Given the description of an element on the screen output the (x, y) to click on. 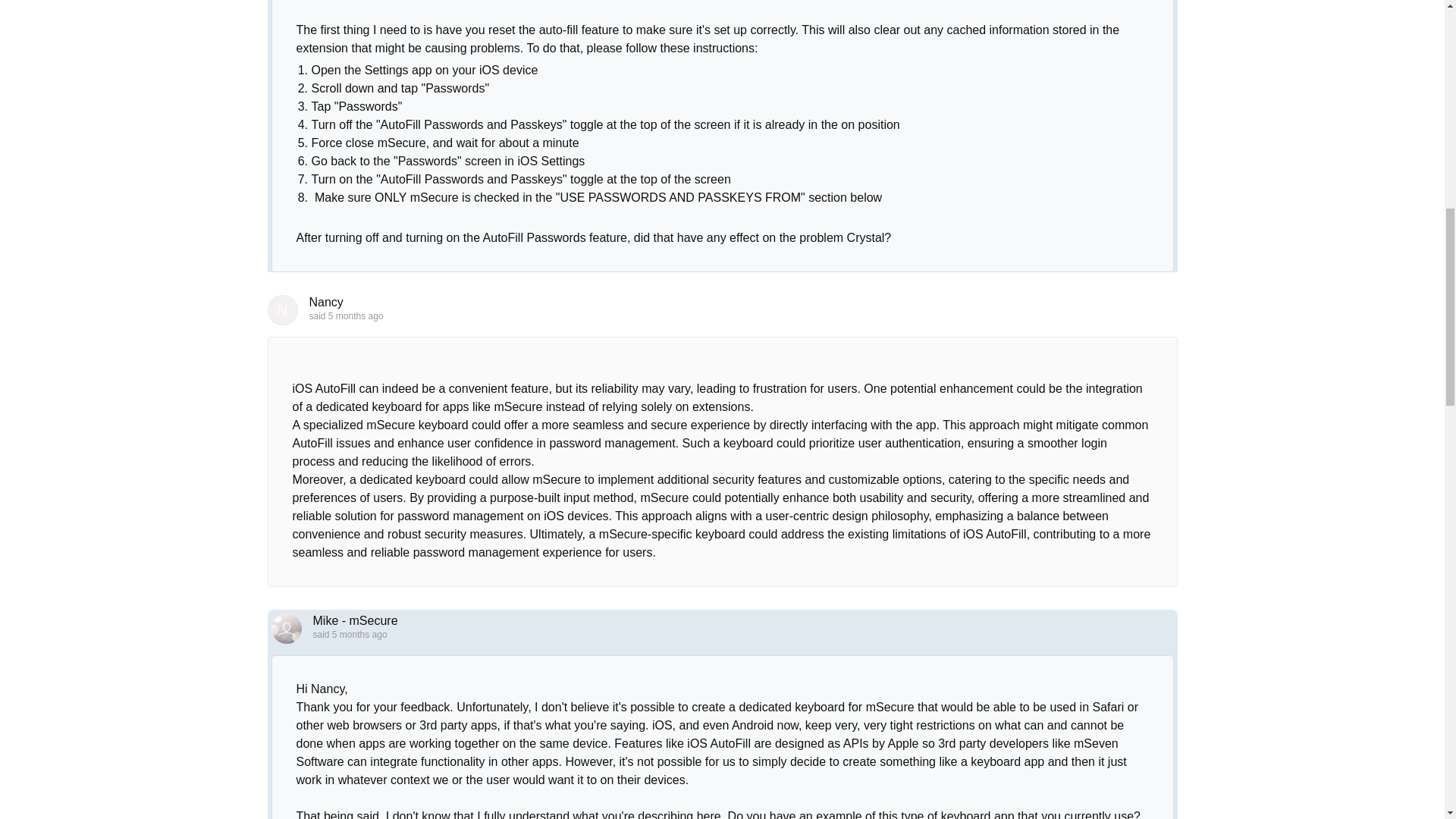
Mon, Feb 26, 2024 at  8:41 AM (359, 634)
Sat, Feb 24, 2024 at  6:53 AM (356, 316)
